Given the description of an element on the screen output the (x, y) to click on. 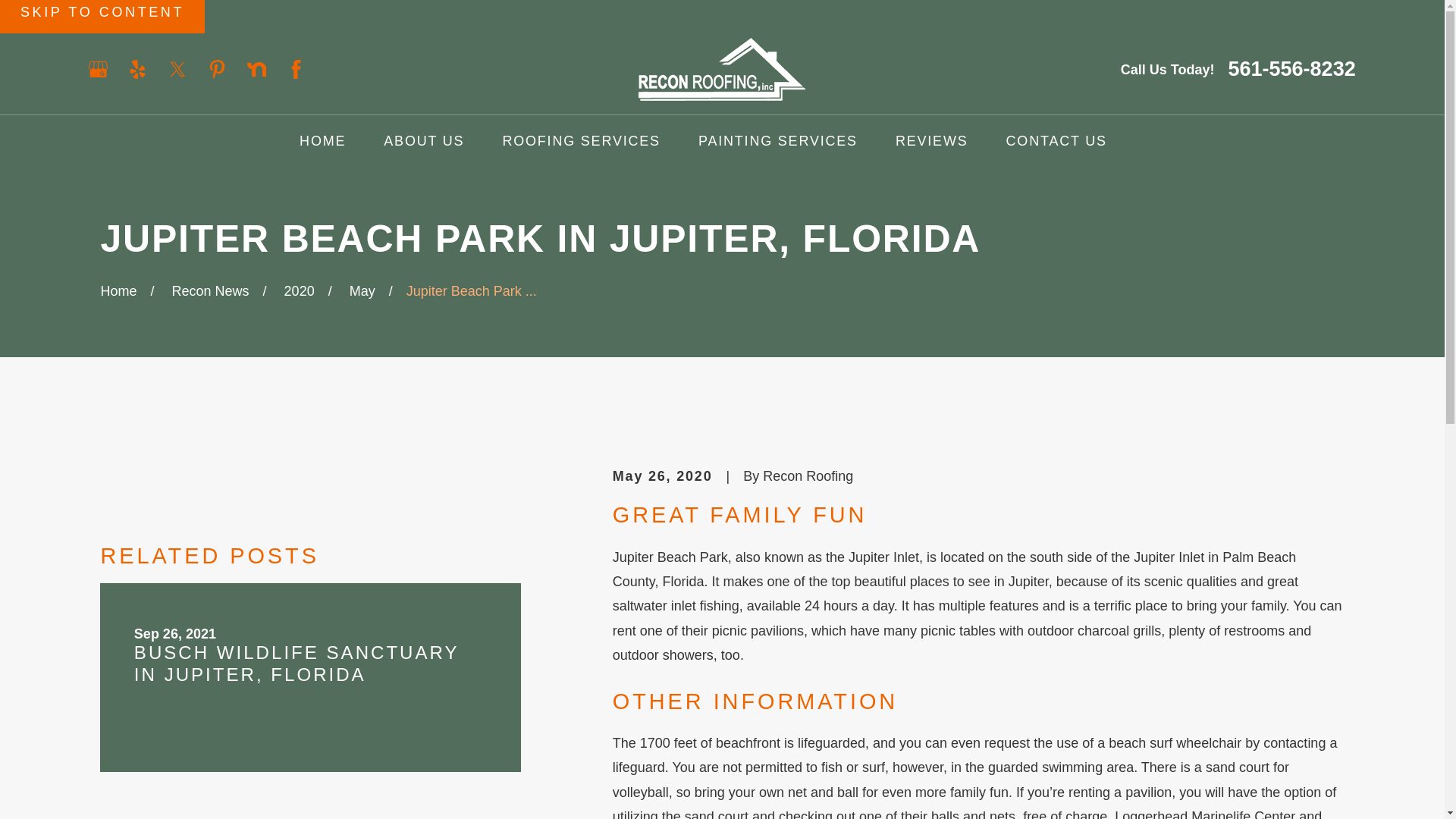
Facebook (295, 68)
SKIP TO CONTENT (102, 16)
Home (722, 68)
Nextdoor (256, 68)
Twitter (177, 68)
PAINTING SERVICES (777, 141)
Go Home (118, 290)
ROOFING SERVICES (581, 141)
CONTACT US (1056, 141)
Yelp (137, 68)
561-556-8232 (1291, 68)
HOME (322, 141)
Google Business Profile (97, 68)
Pinterest (217, 68)
REVIEWS (931, 141)
